Given the description of an element on the screen output the (x, y) to click on. 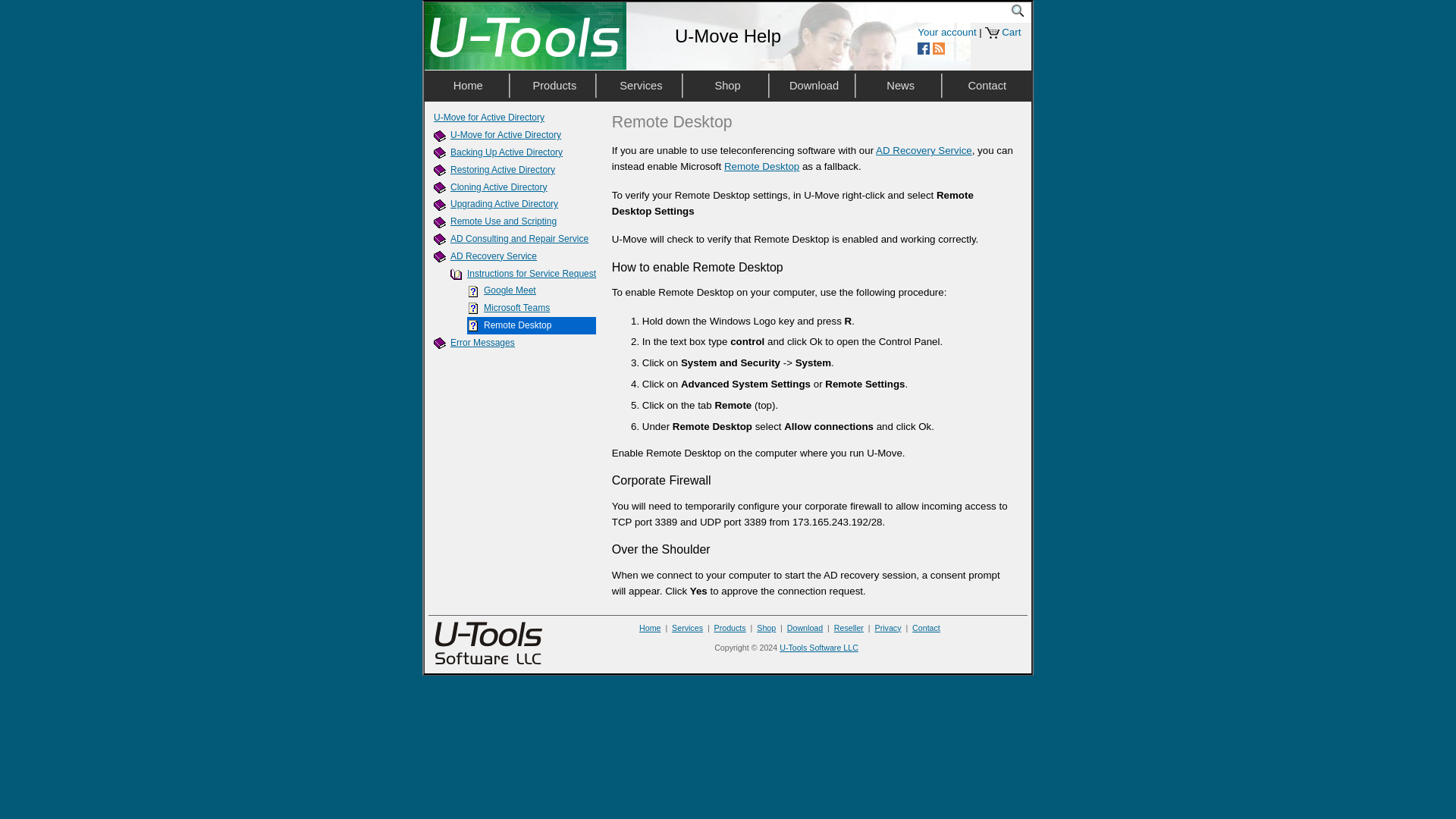
Shop (727, 85)
Services (640, 85)
Cart (1010, 31)
Search (1020, 9)
RSS Feed (938, 48)
Visit us on Facebook (923, 48)
U-Tools: Unique Tools for Windows System Administrators (525, 35)
Products (554, 85)
Contact (988, 85)
News (900, 85)
Home (468, 85)
Your account (946, 31)
Download (814, 85)
